Given the description of an element on the screen output the (x, y) to click on. 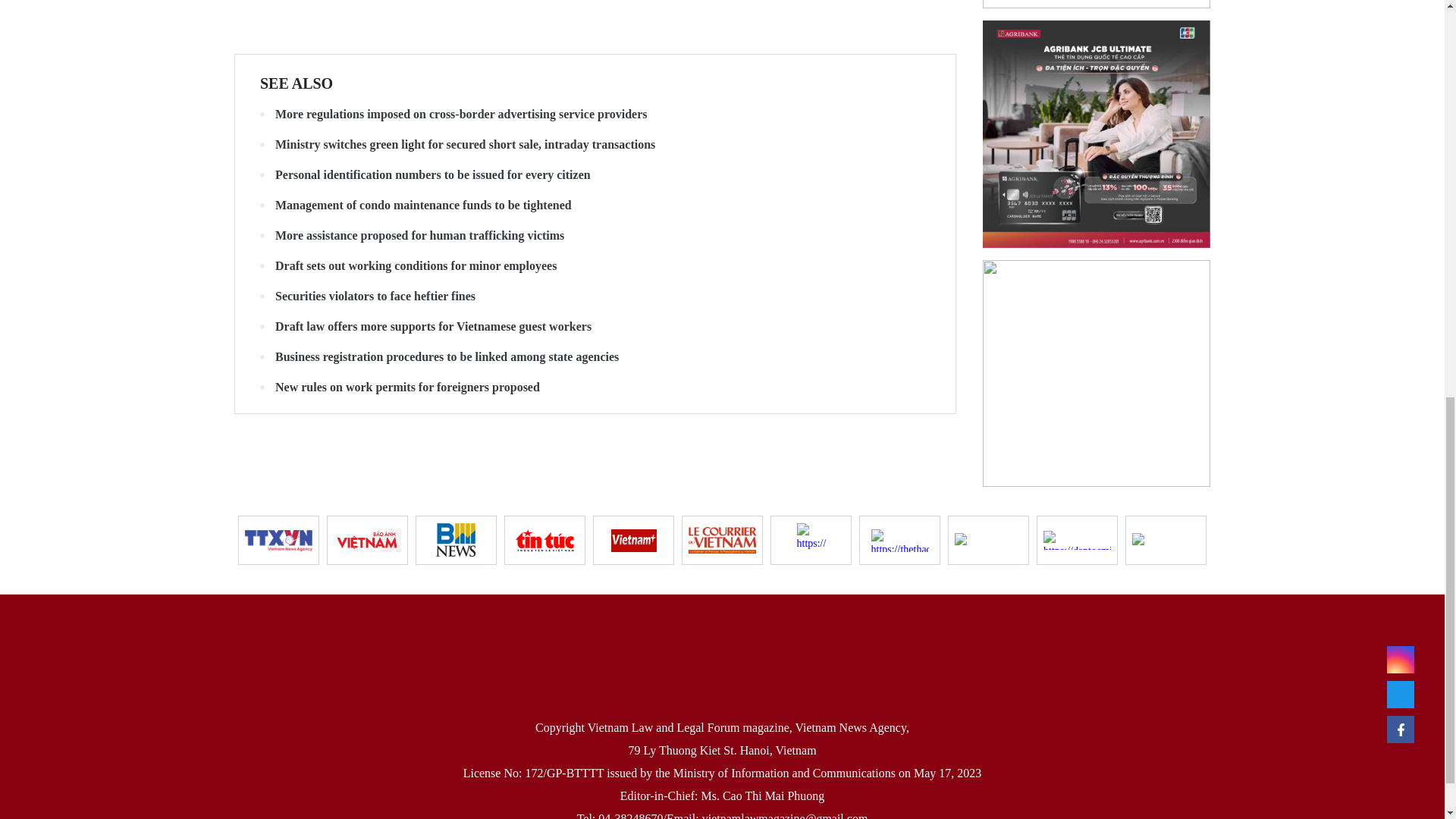
SEE ALSO (296, 83)
Draft sets out working conditions for minor employees (595, 265)
More assistance proposed for human trafficking victims (595, 235)
Management of condo maintenance funds to be tightened (595, 205)
